Given the description of an element on the screen output the (x, y) to click on. 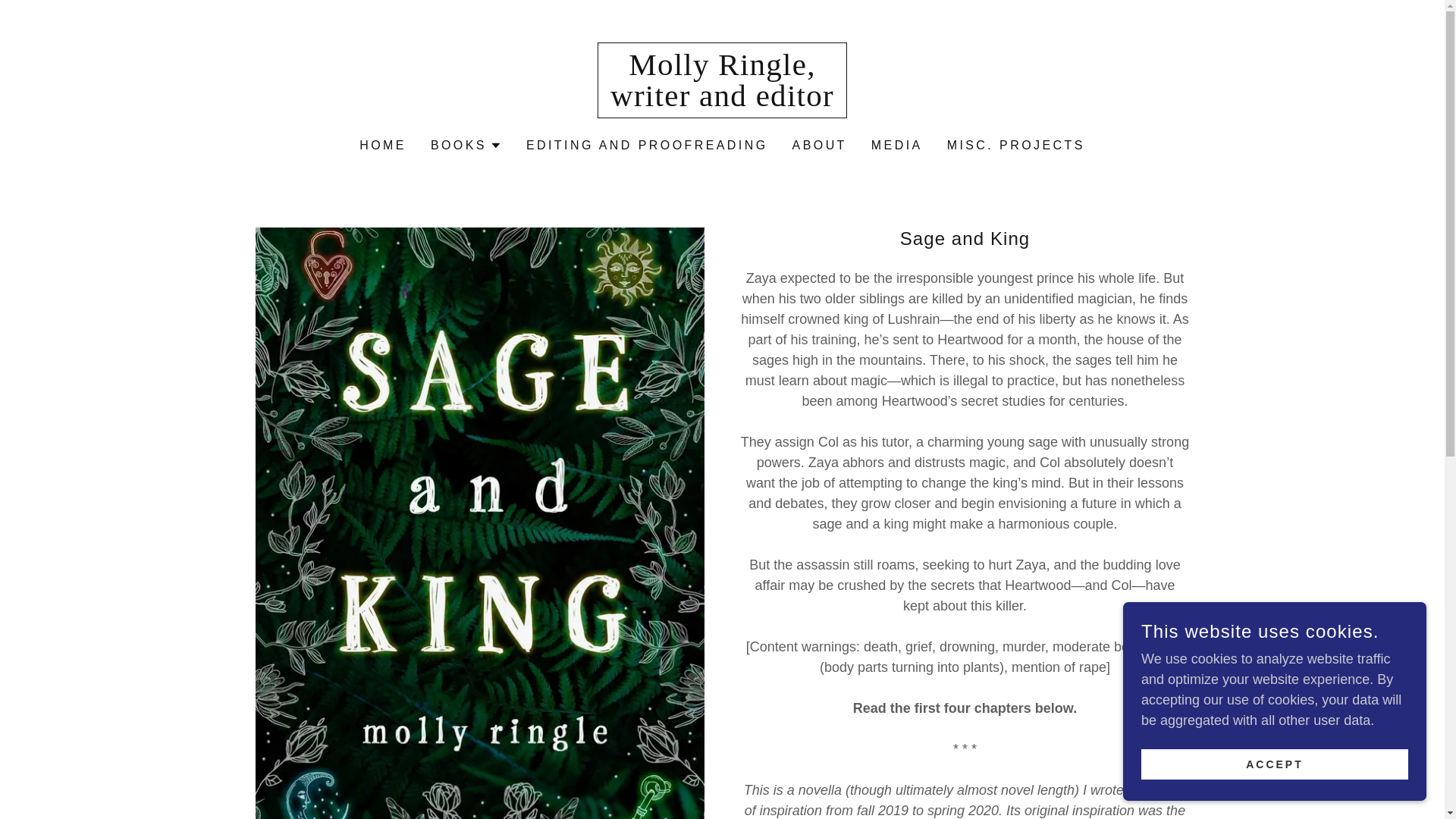
BOOKS (466, 145)
MISC. PROJECTS (1015, 144)
EDITING AND PROOFREADING (647, 144)
ABOUT (721, 101)
MEDIA (819, 144)
HOME (721, 101)
